Given the description of an element on the screen output the (x, y) to click on. 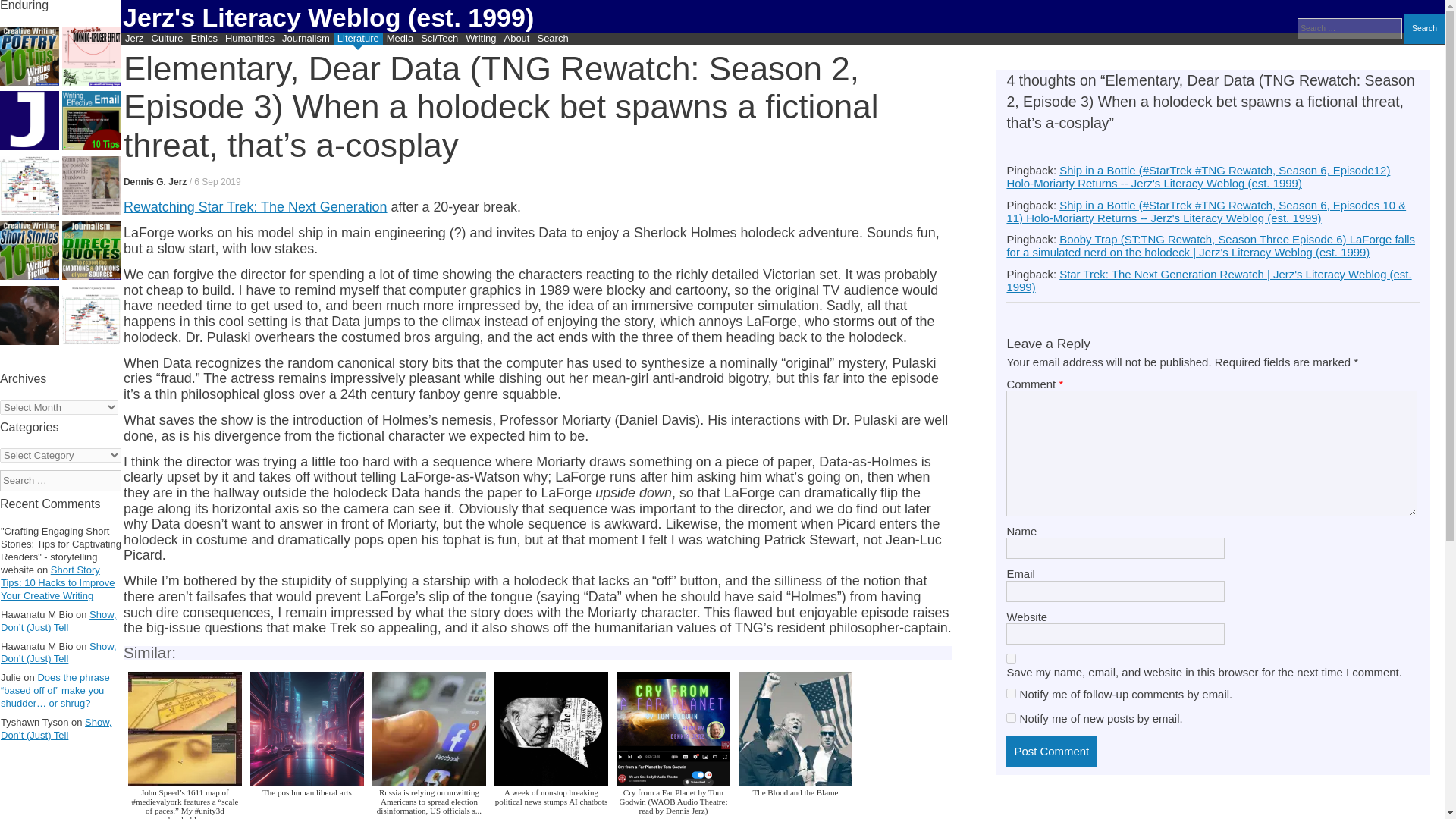
Humanities (249, 38)
What's a namber? (29, 121)
Culture (167, 38)
subscribe (1011, 693)
Post Comment (1051, 751)
yes (1011, 658)
Literature (357, 38)
Jerz (134, 38)
Journalism (305, 38)
